Given the description of an element on the screen output the (x, y) to click on. 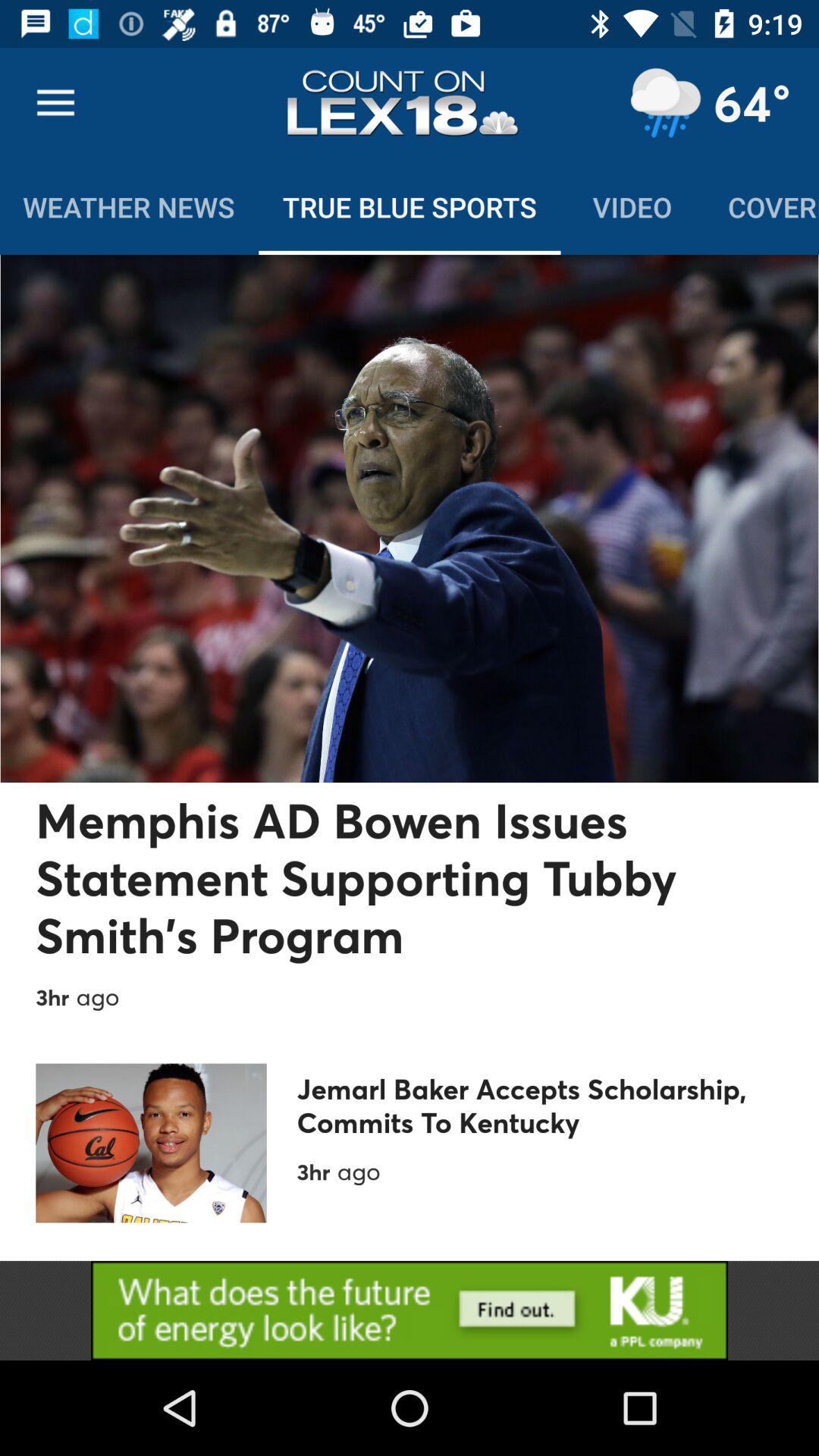
advertisement display (409, 1310)
